Given the description of an element on the screen output the (x, y) to click on. 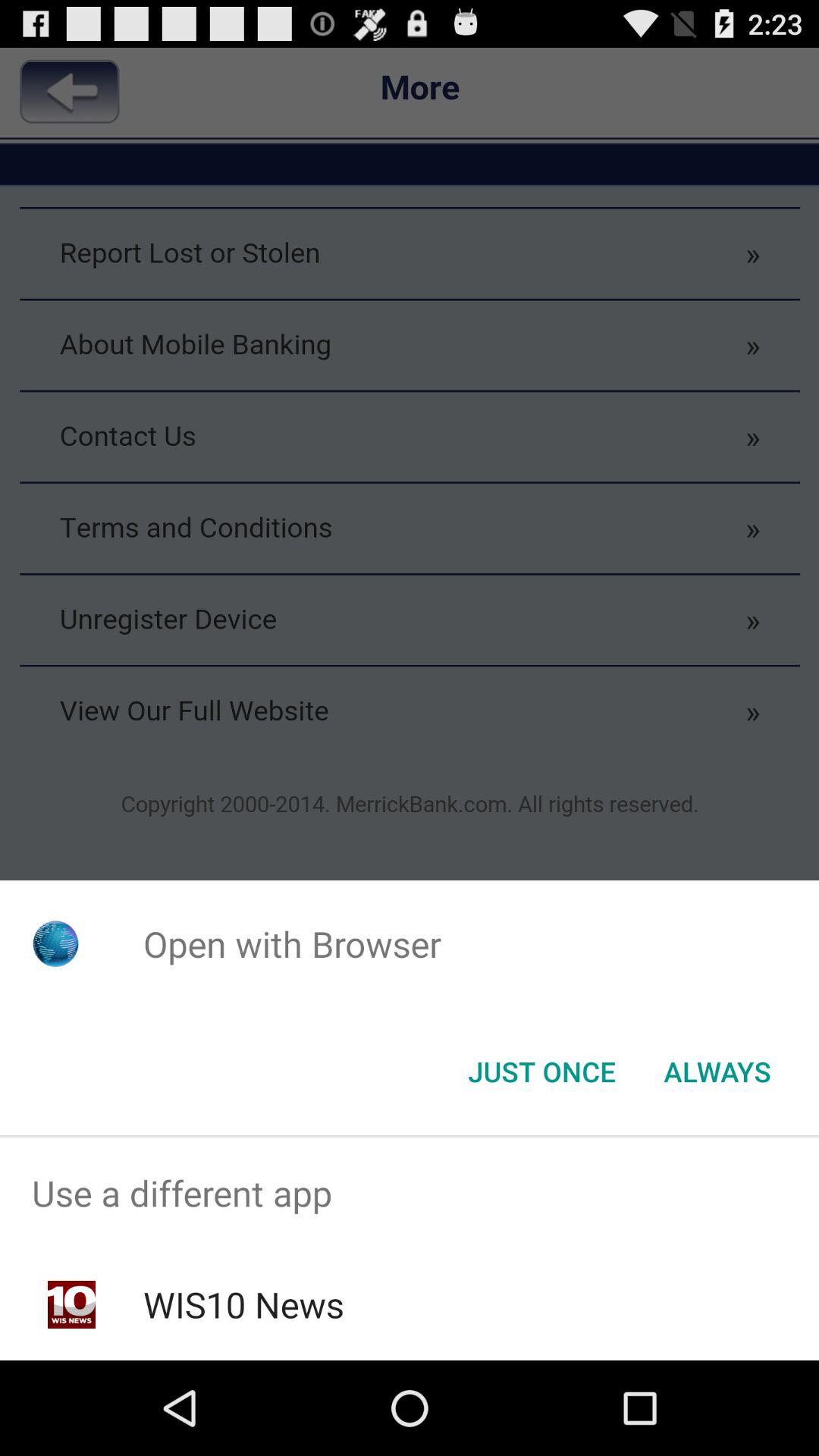
open button next to the just once button (717, 1071)
